Given the description of an element on the screen output the (x, y) to click on. 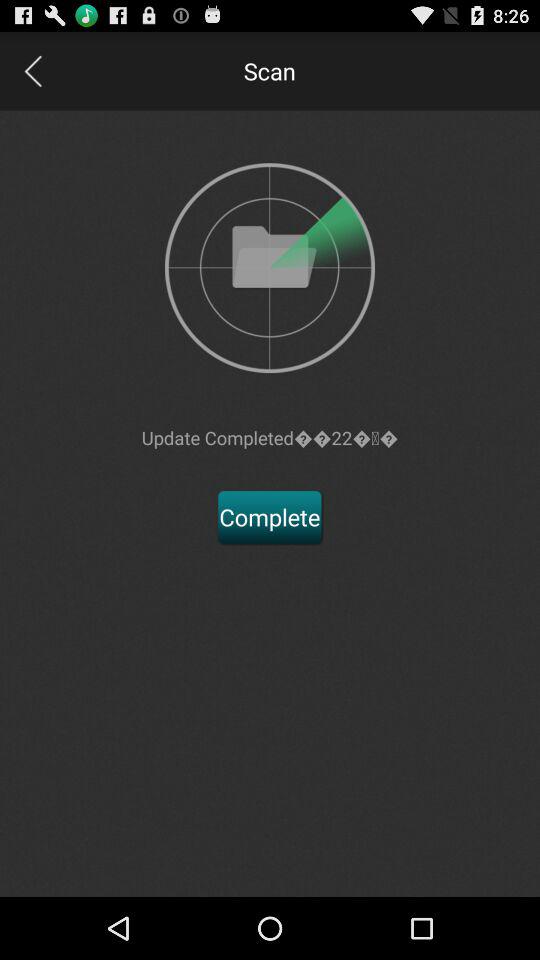
go back (32, 70)
